Given the description of an element on the screen output the (x, y) to click on. 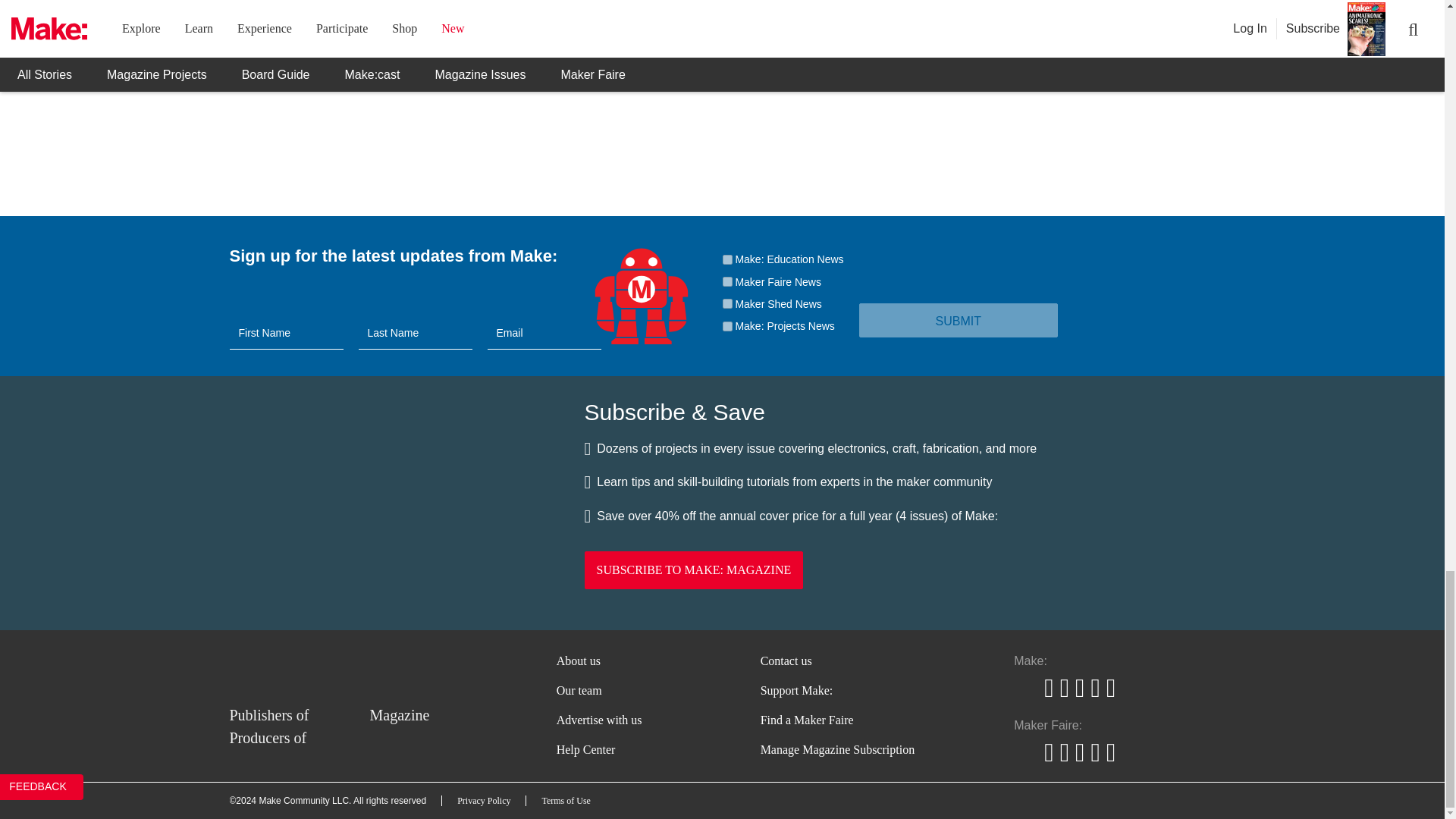
Make: Projects News (727, 326)
Make: Education News (727, 259)
Maker Shed News (727, 303)
Maker Faire News (727, 281)
